Given the description of an element on the screen output the (x, y) to click on. 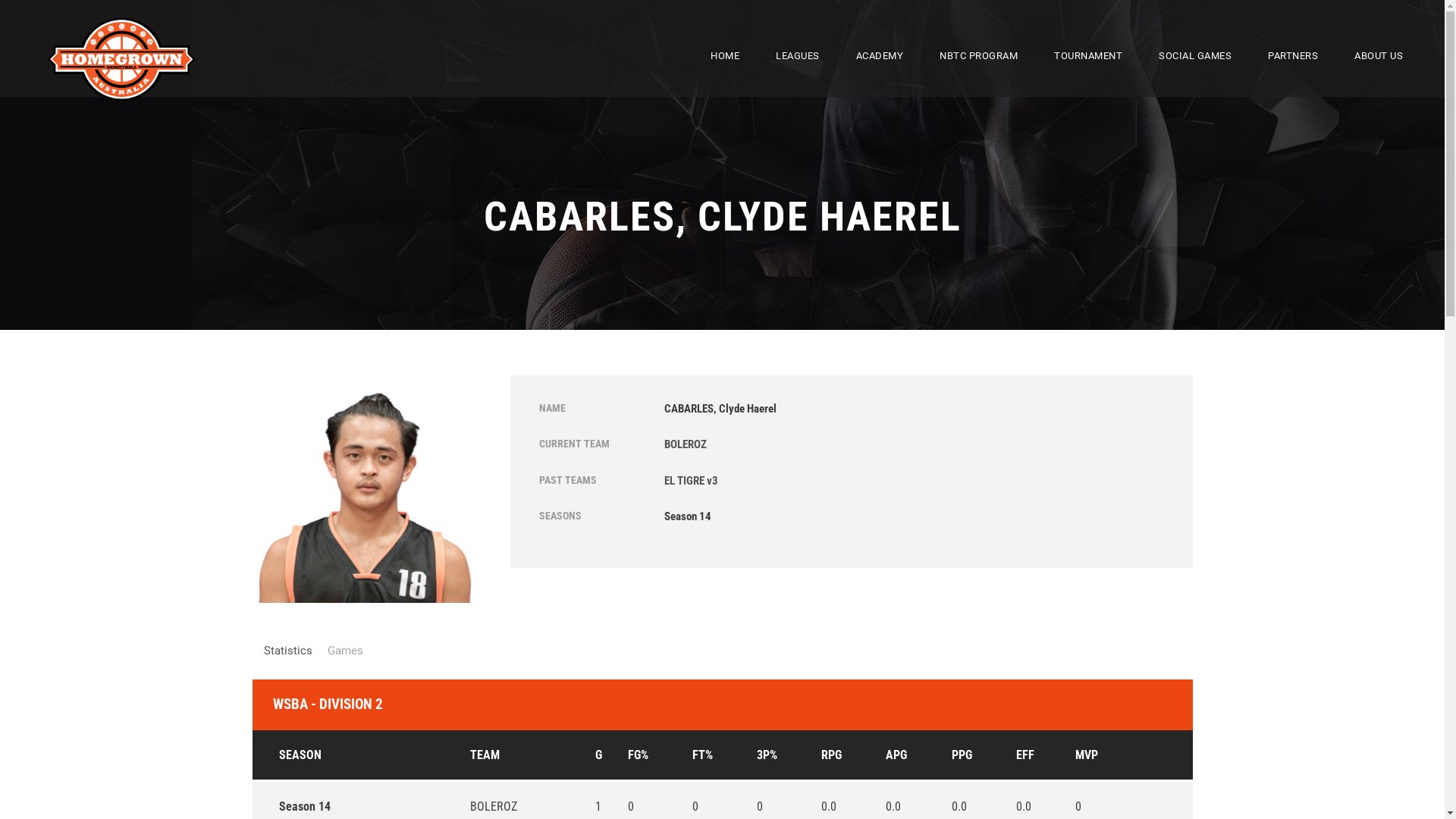
HOME Element type: text (724, 72)
Games Element type: text (345, 650)
NBTC PROGRAM Element type: text (978, 72)
ACADEMY Element type: text (879, 72)
LEAGUES Element type: text (797, 72)
SOCIAL GAMES Element type: text (1194, 72)
EL TIGRE v3 Element type: text (691, 480)
ABOUT US Element type: text (1378, 72)
Statistics Element type: text (287, 650)
BOLEROZ Element type: text (493, 806)
TOURNAMENT Element type: text (1088, 72)
BOLEROZ Element type: text (685, 444)
HomeGrown-Logo Element type: hover (121, 58)
PARTNERS Element type: text (1292, 72)
